Given the description of an element on the screen output the (x, y) to click on. 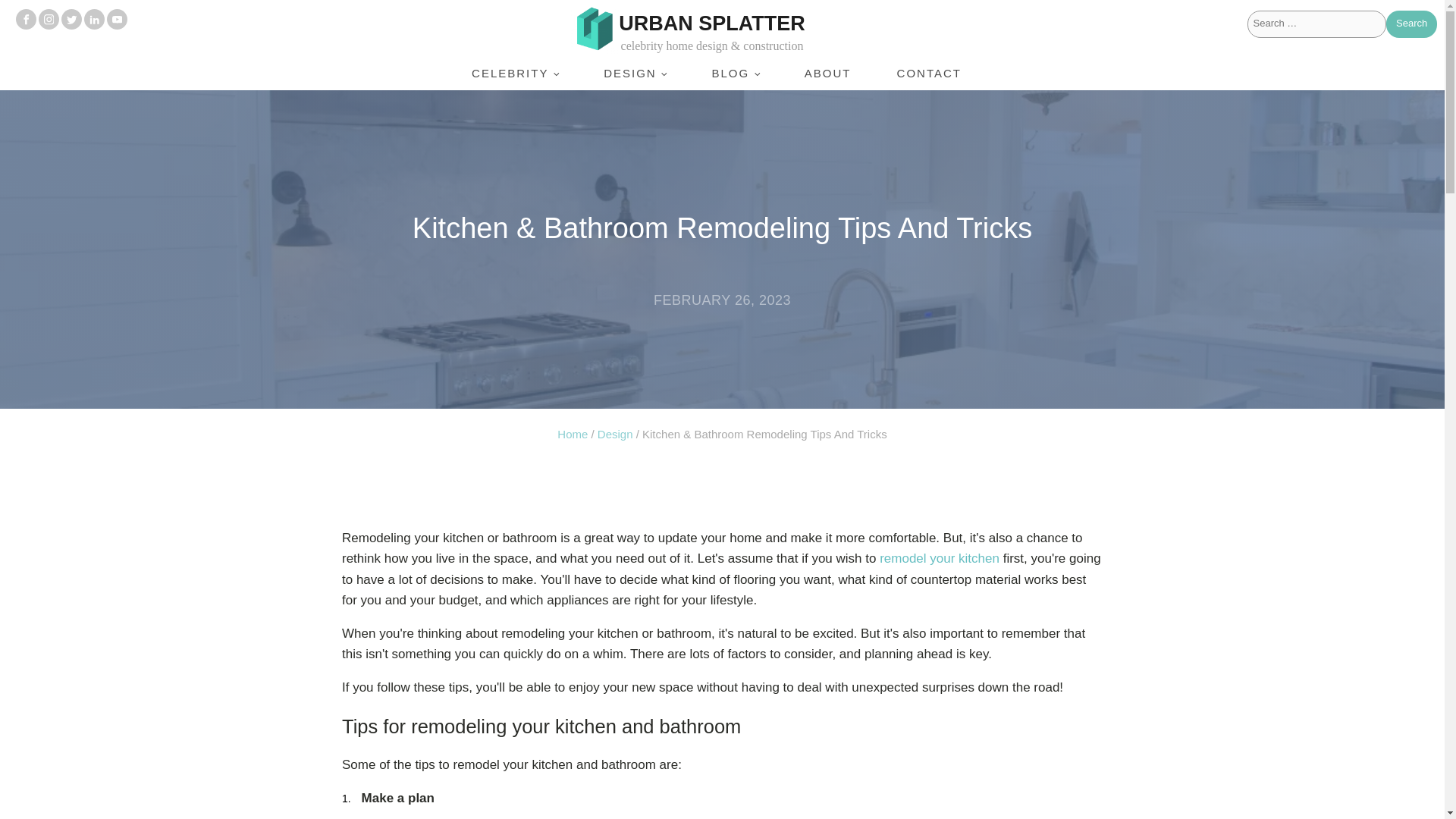
Search (1411, 23)
DESIGN (634, 73)
Search (1411, 23)
CELEBRITY (514, 73)
BLOG (734, 73)
Search (1411, 23)
